Given the description of an element on the screen output the (x, y) to click on. 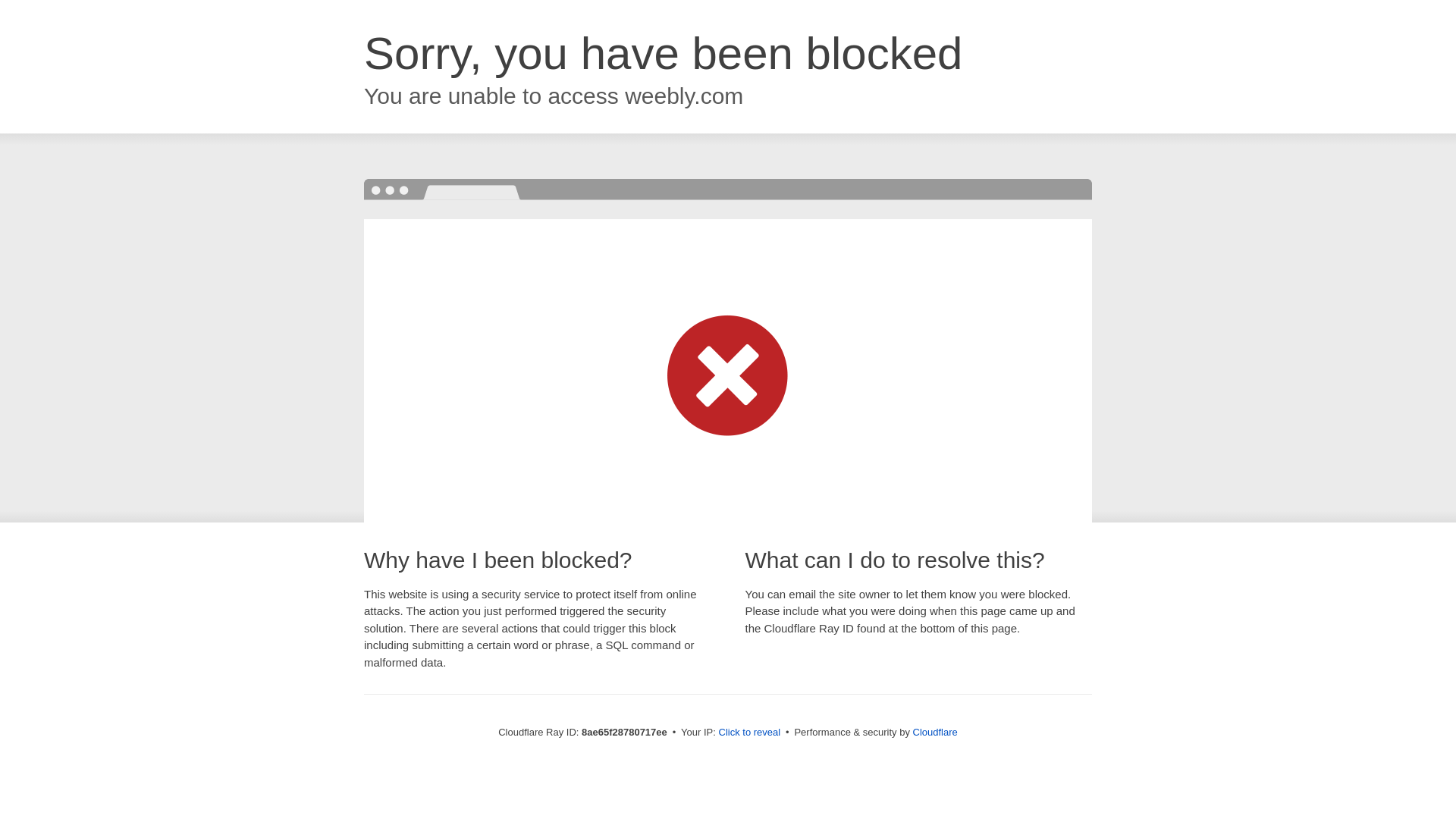
Click to reveal (749, 732)
Cloudflare (935, 731)
